Given the description of an element on the screen output the (x, y) to click on. 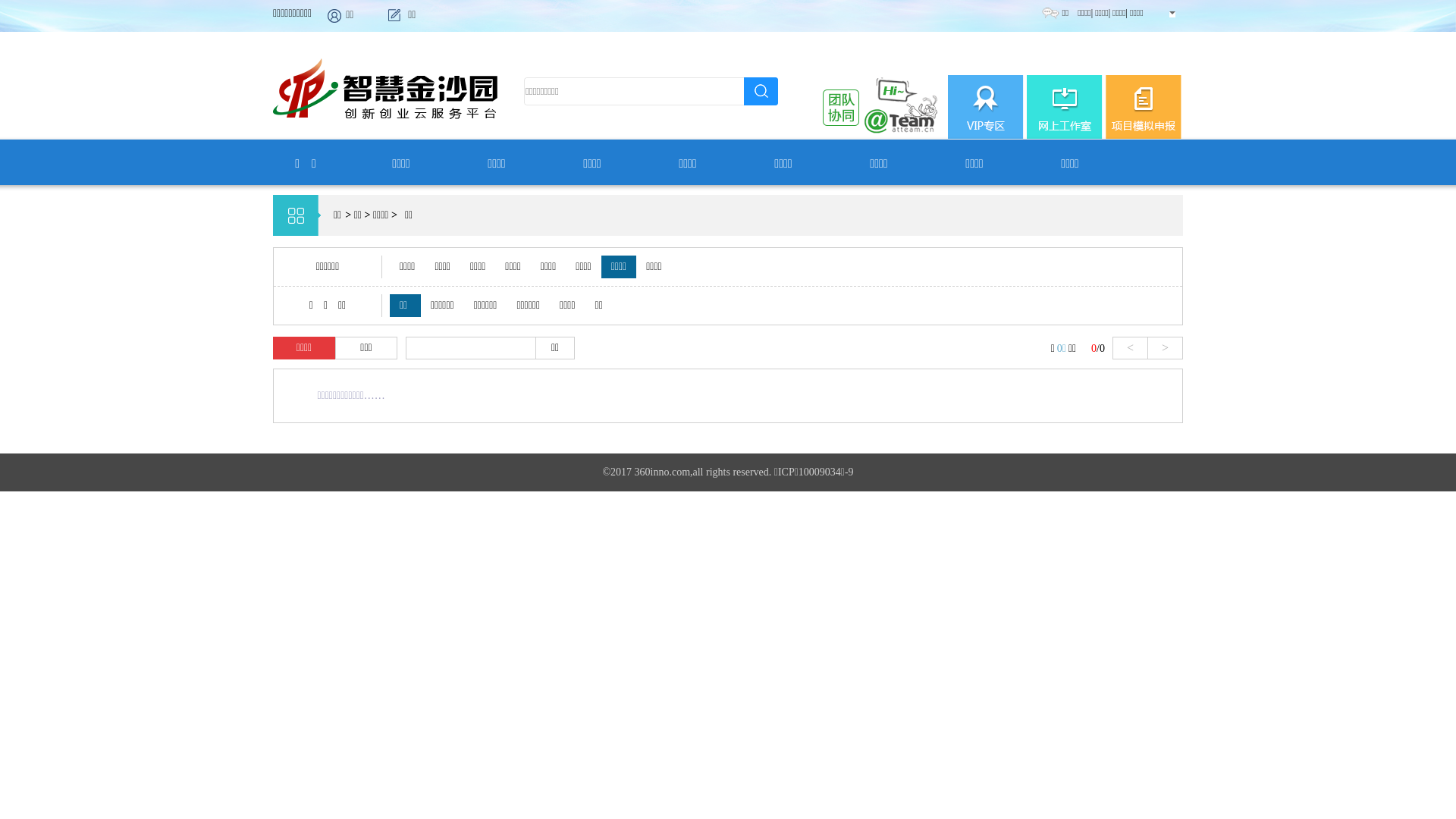
< Element type: text (1130, 347)
> Element type: text (1165, 347)
